Given the description of an element on the screen output the (x, y) to click on. 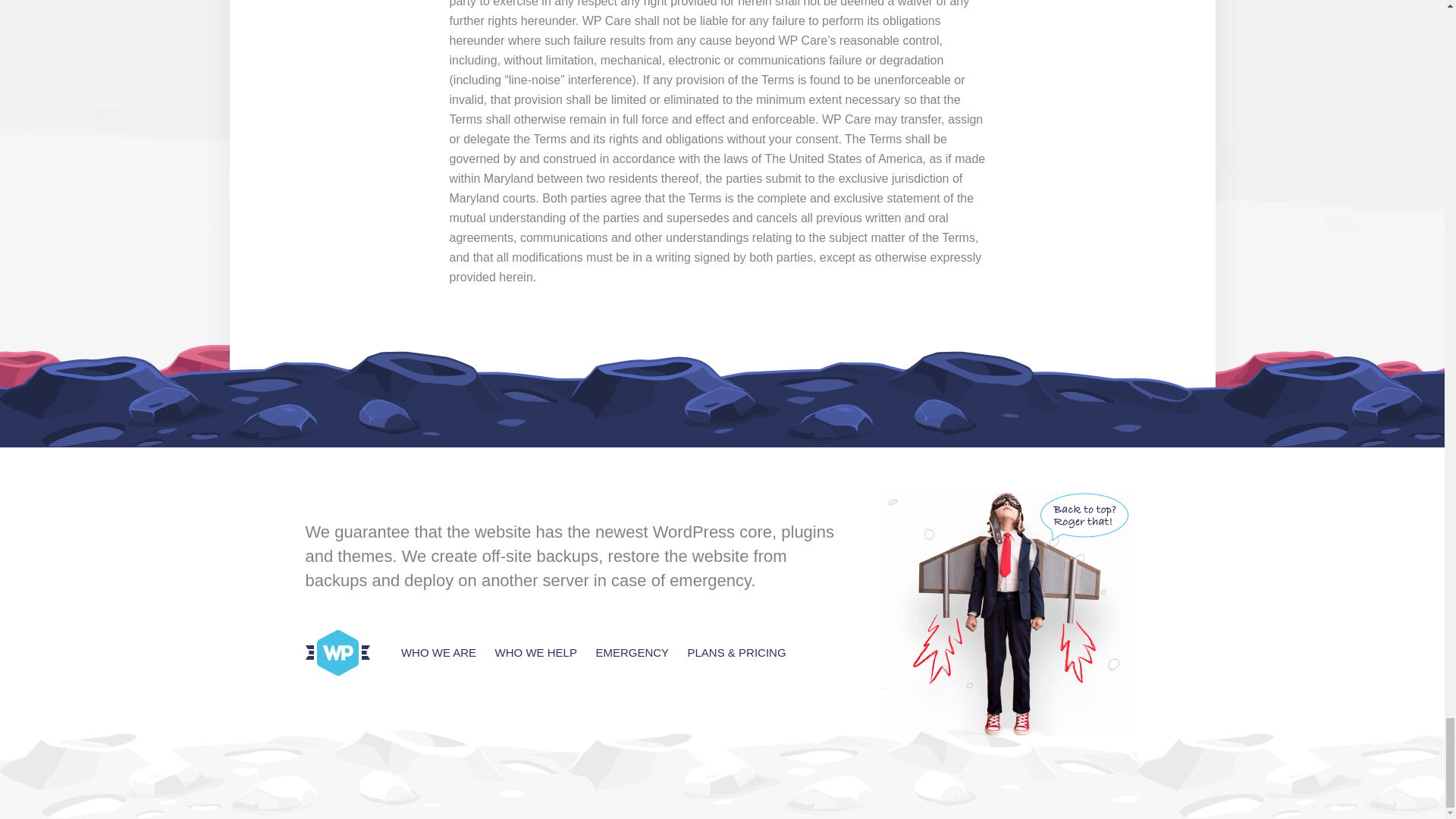
EMERGENCY (631, 652)
WHO WE HELP (535, 652)
WHO WE ARE (438, 652)
